Given the description of an element on the screen output the (x, y) to click on. 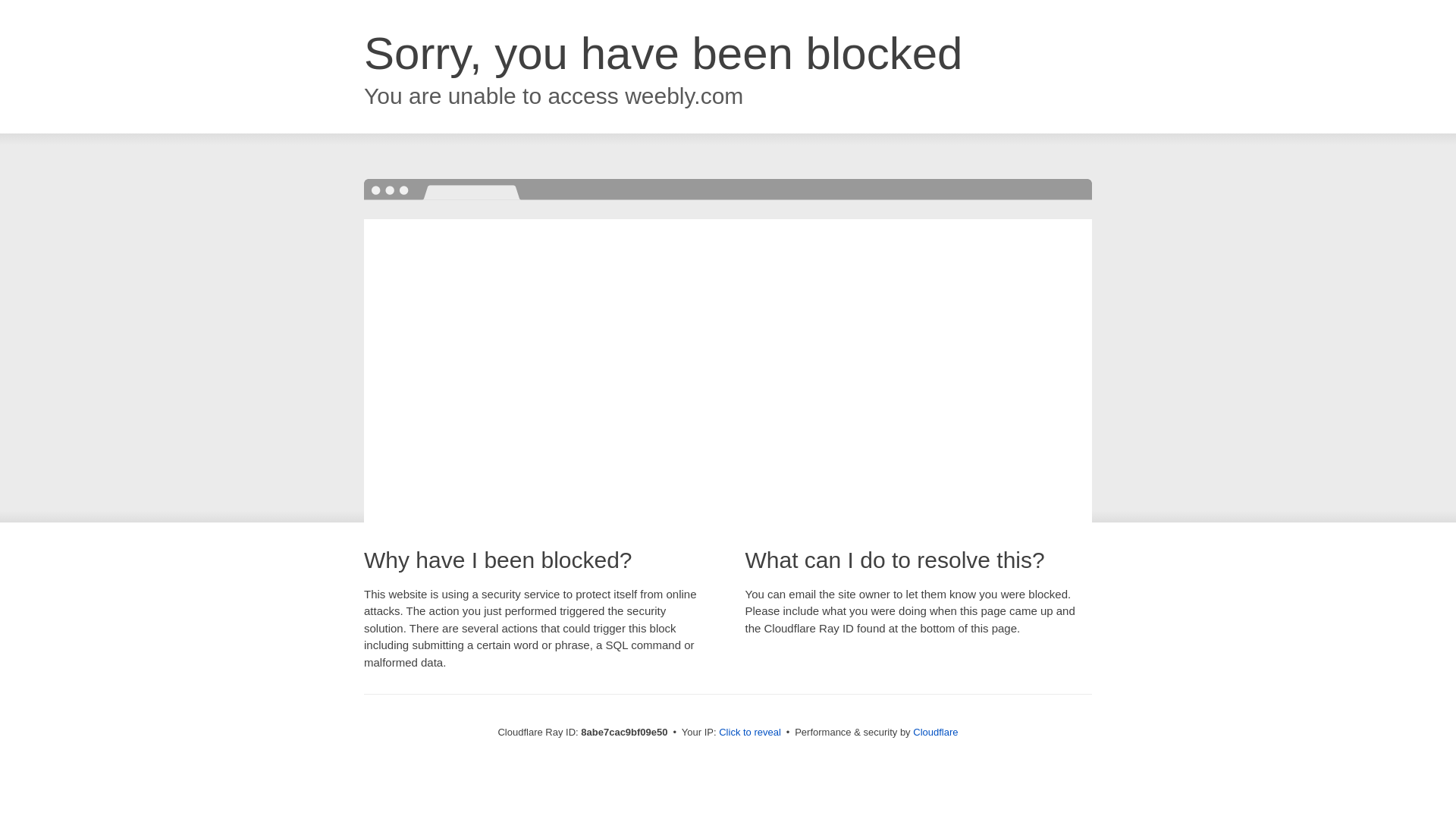
Click to reveal (749, 732)
Cloudflare (935, 731)
